Given the description of an element on the screen output the (x, y) to click on. 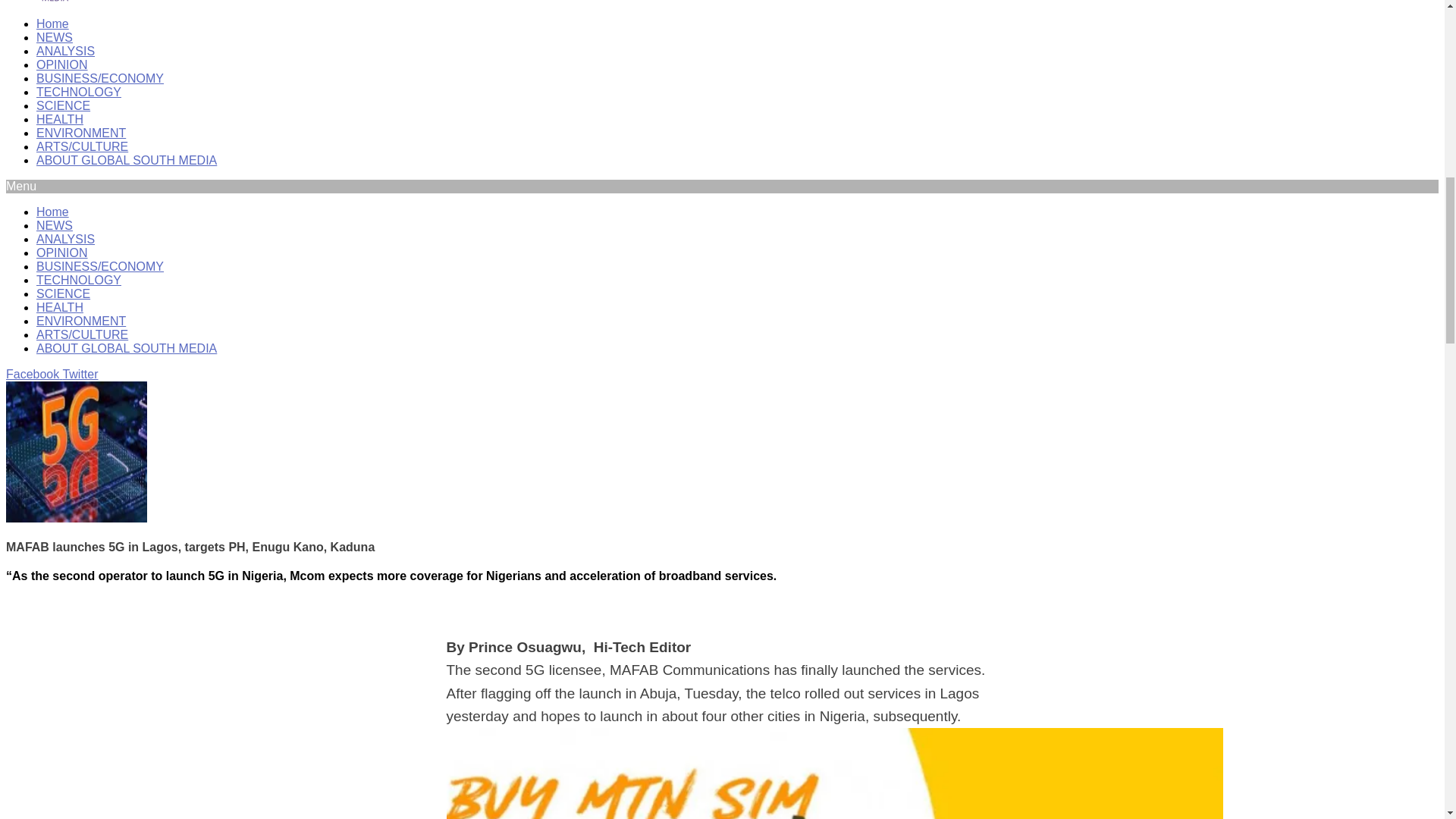
logo (54, 1)
ANALYSIS (65, 51)
NEWS (54, 37)
Home (52, 23)
